Given the description of an element on the screen output the (x, y) to click on. 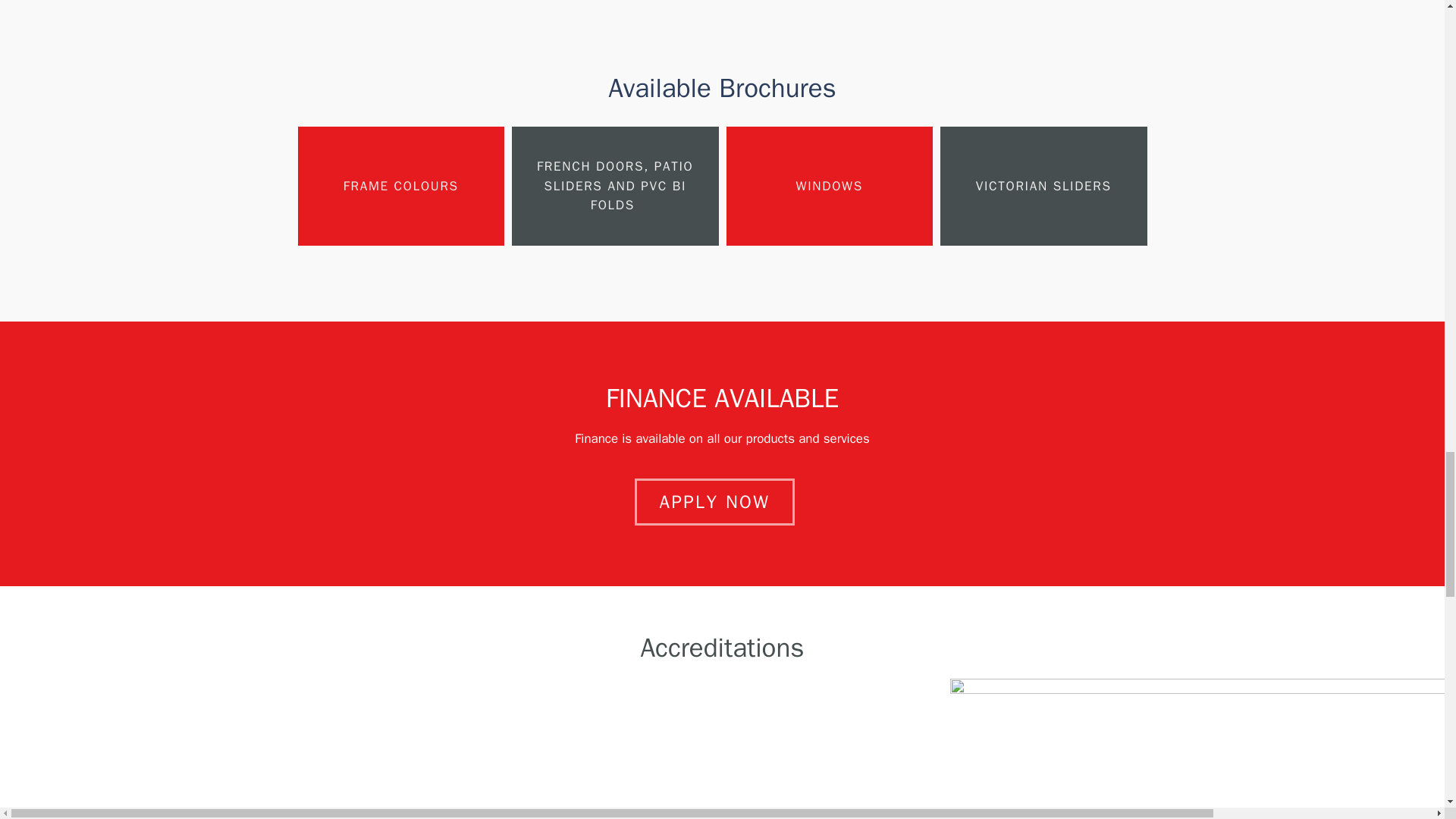
APPLY NOW (714, 501)
